Given the description of an element on the screen output the (x, y) to click on. 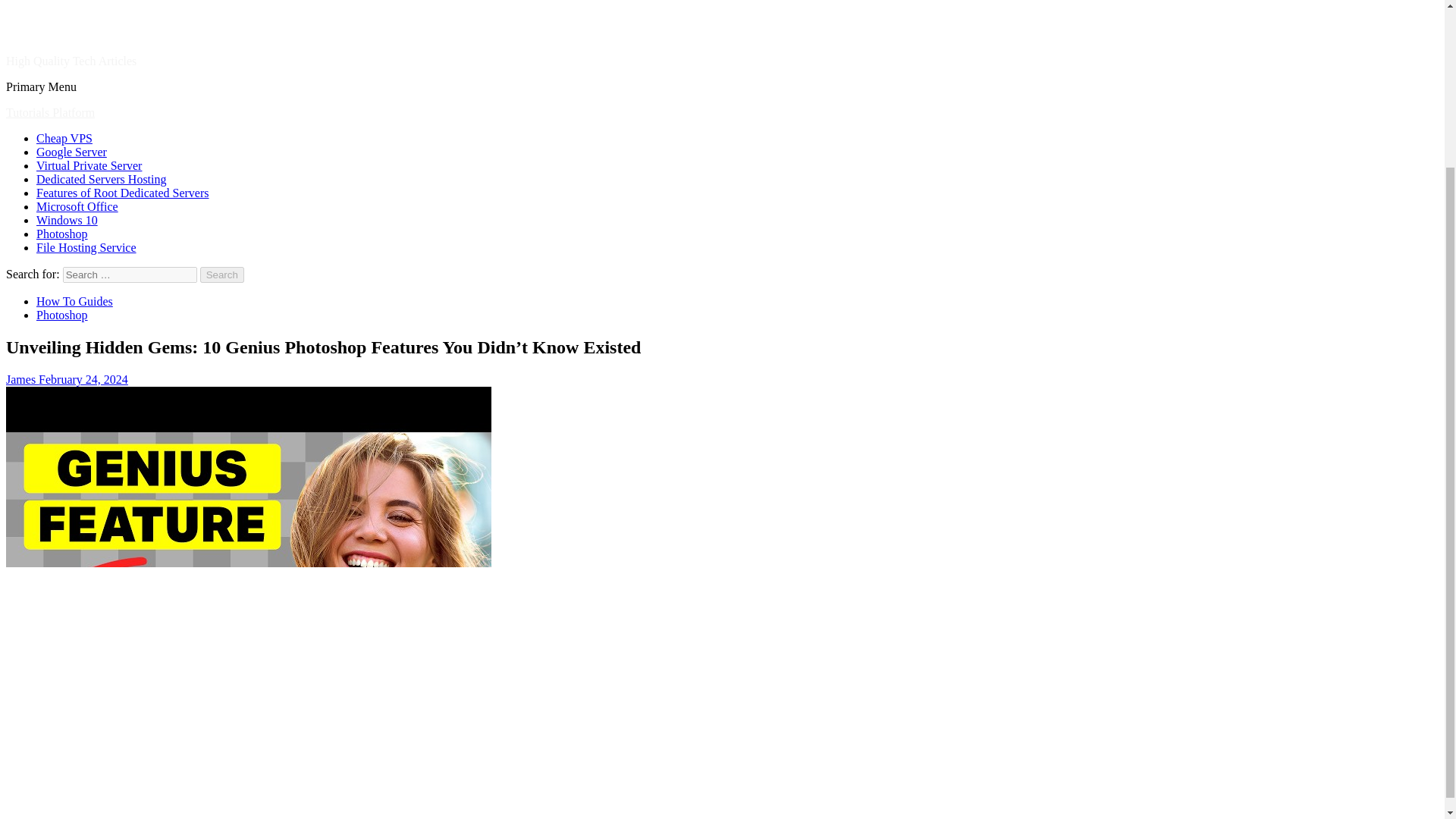
Google Server (71, 151)
Tutorials Platform (49, 112)
Microsoft Office (76, 205)
Search (222, 274)
Cheap VPS (64, 137)
Photoshop (61, 233)
Features of Root Dedicated Servers (122, 192)
Dedicated Servers Hosting (101, 178)
How To Guides (74, 300)
Photoshop (61, 314)
Search (222, 274)
File Hosting Service (86, 246)
Search (222, 274)
Primary Menu (41, 86)
James (22, 379)
